Given the description of an element on the screen output the (x, y) to click on. 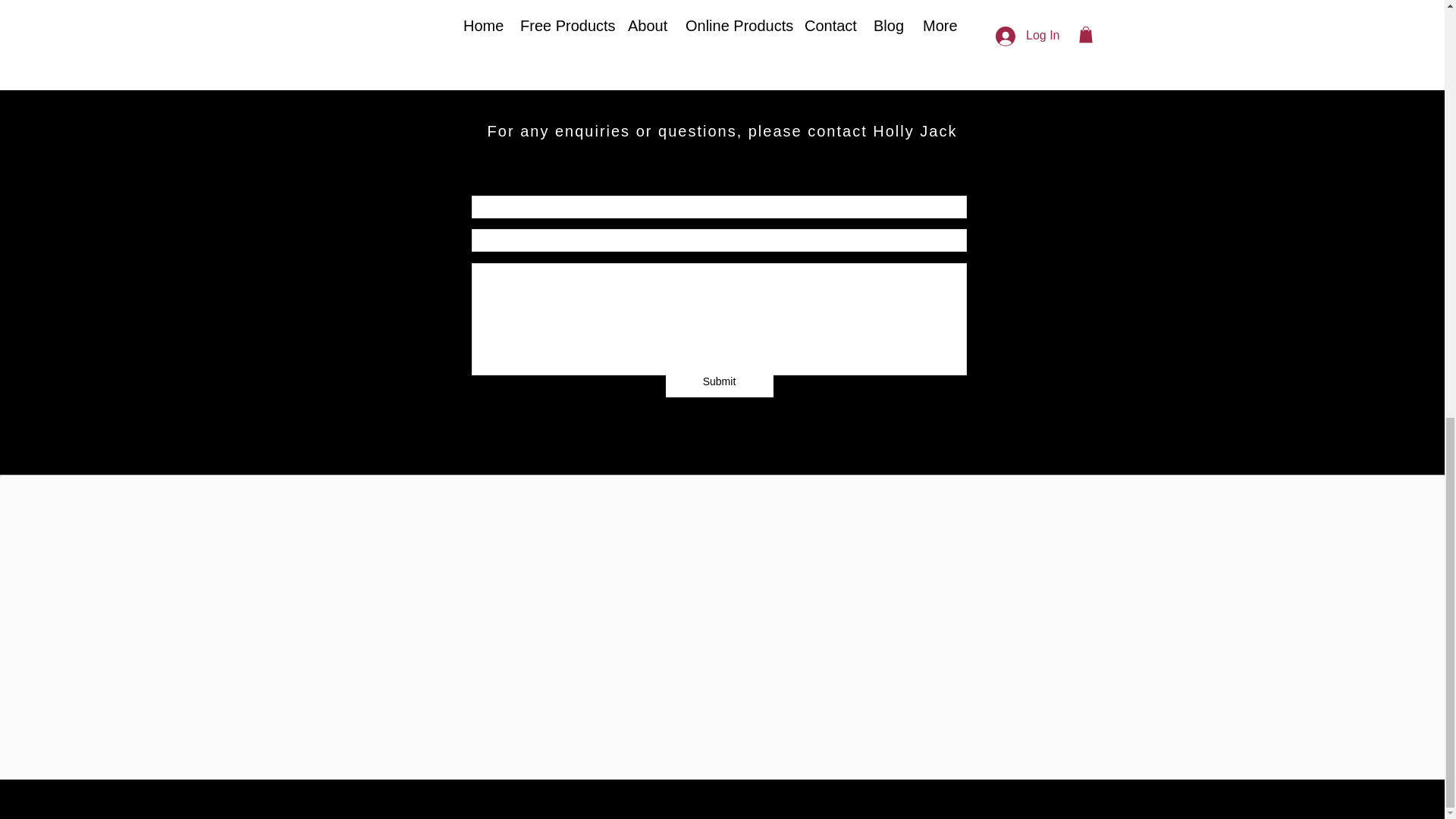
FAQ  (487, 667)
Payment Methods  (918, 667)
Submit (719, 381)
Wix.com (856, 747)
Store Policy    (719, 667)
